Given the description of an element on the screen output the (x, y) to click on. 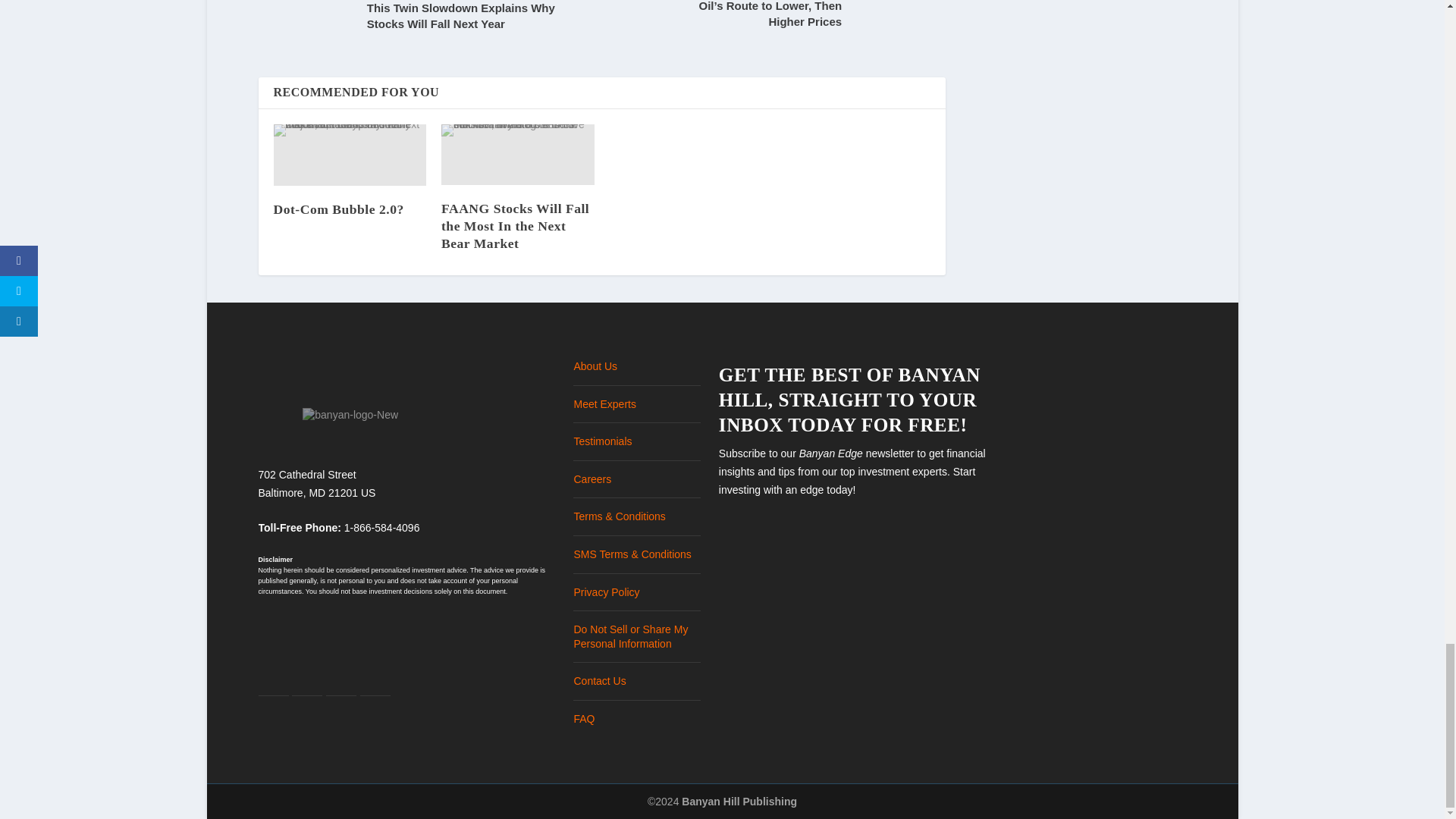
FAANG Stocks Will Fall the Most In the Next Bear Market (517, 154)
FAANG Stocks Will Fall the Most In the Next Bear Market (515, 225)
Dot-Com Bubble 2.0? (349, 154)
FAANG Stocks Will Fall the Most In the Next Bear Market (515, 225)
Dot-Com Bubble 2.0? (338, 209)
Dot-Com Bubble 2.0? (338, 209)
